Given the description of an element on the screen output the (x, y) to click on. 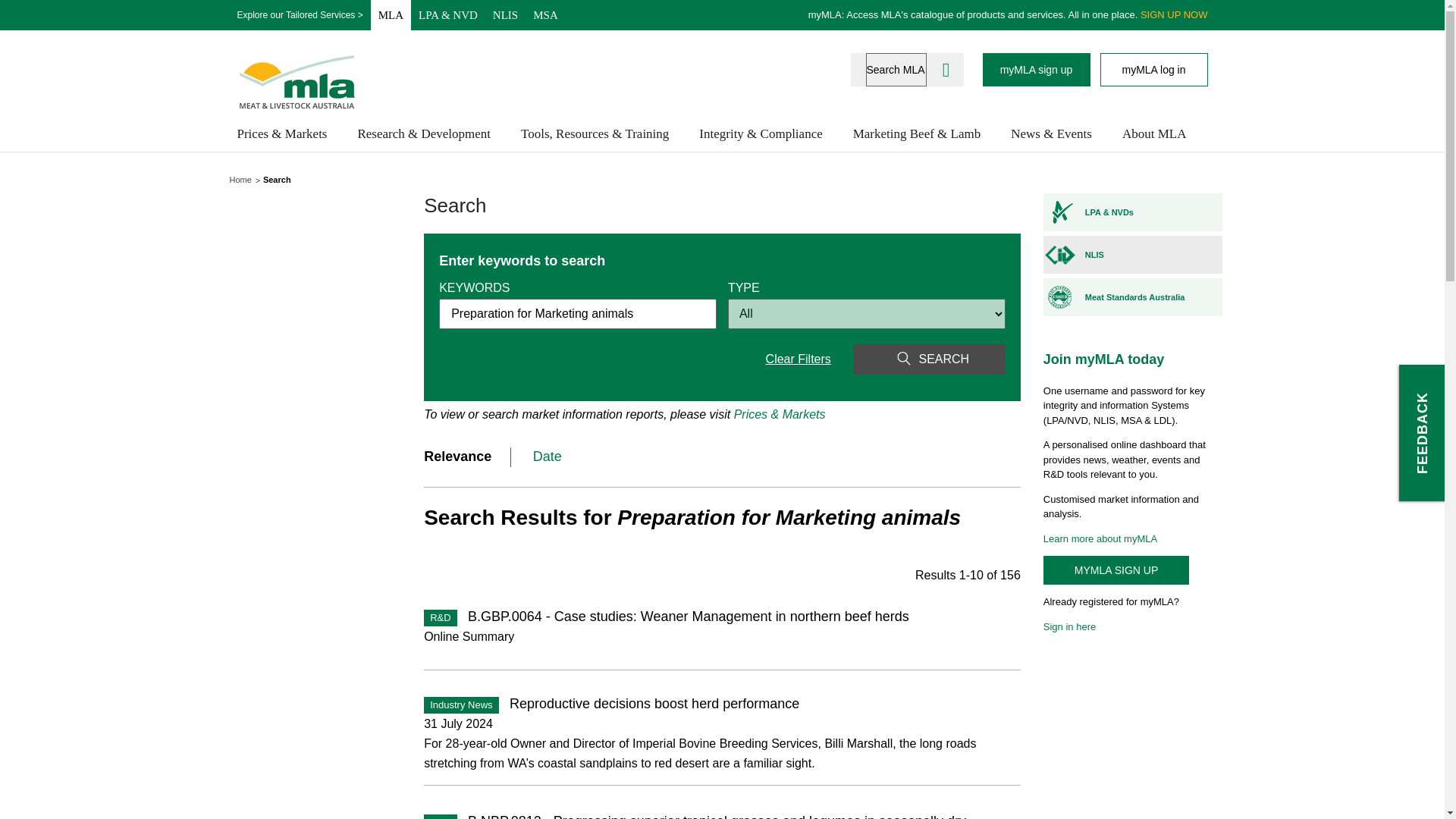
MLA (390, 15)
NLIS (504, 15)
myMLA log in (1153, 69)
Preparation for Marketing animals (577, 313)
Search MLA (896, 69)
myMLA sign up (1036, 69)
SIGN UP NOW (1174, 14)
MLA (390, 15)
MSA (545, 15)
SIGN UP NOW (1174, 14)
